Given the description of an element on the screen output the (x, y) to click on. 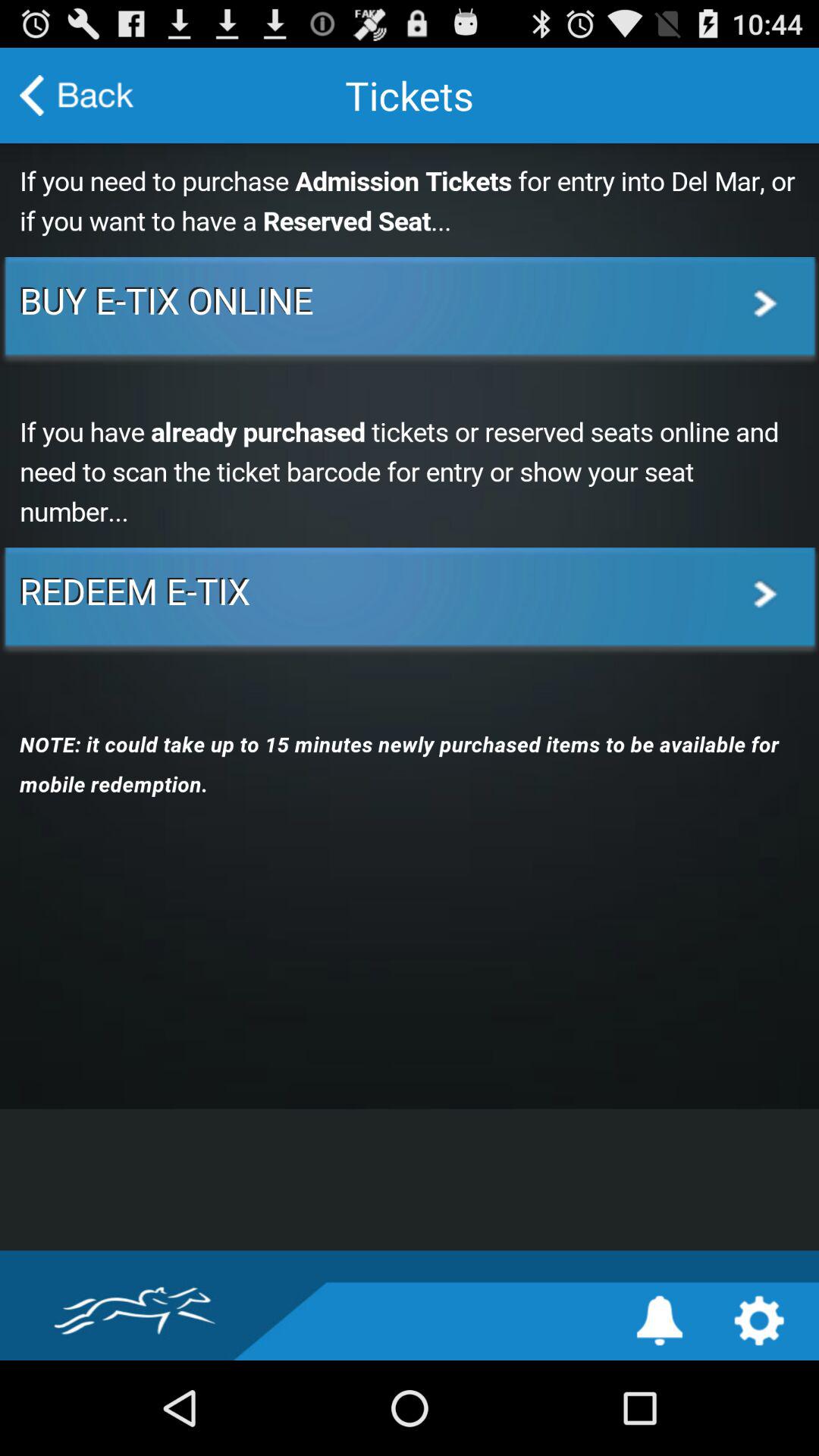
alaert button (659, 1320)
